Given the description of an element on the screen output the (x, y) to click on. 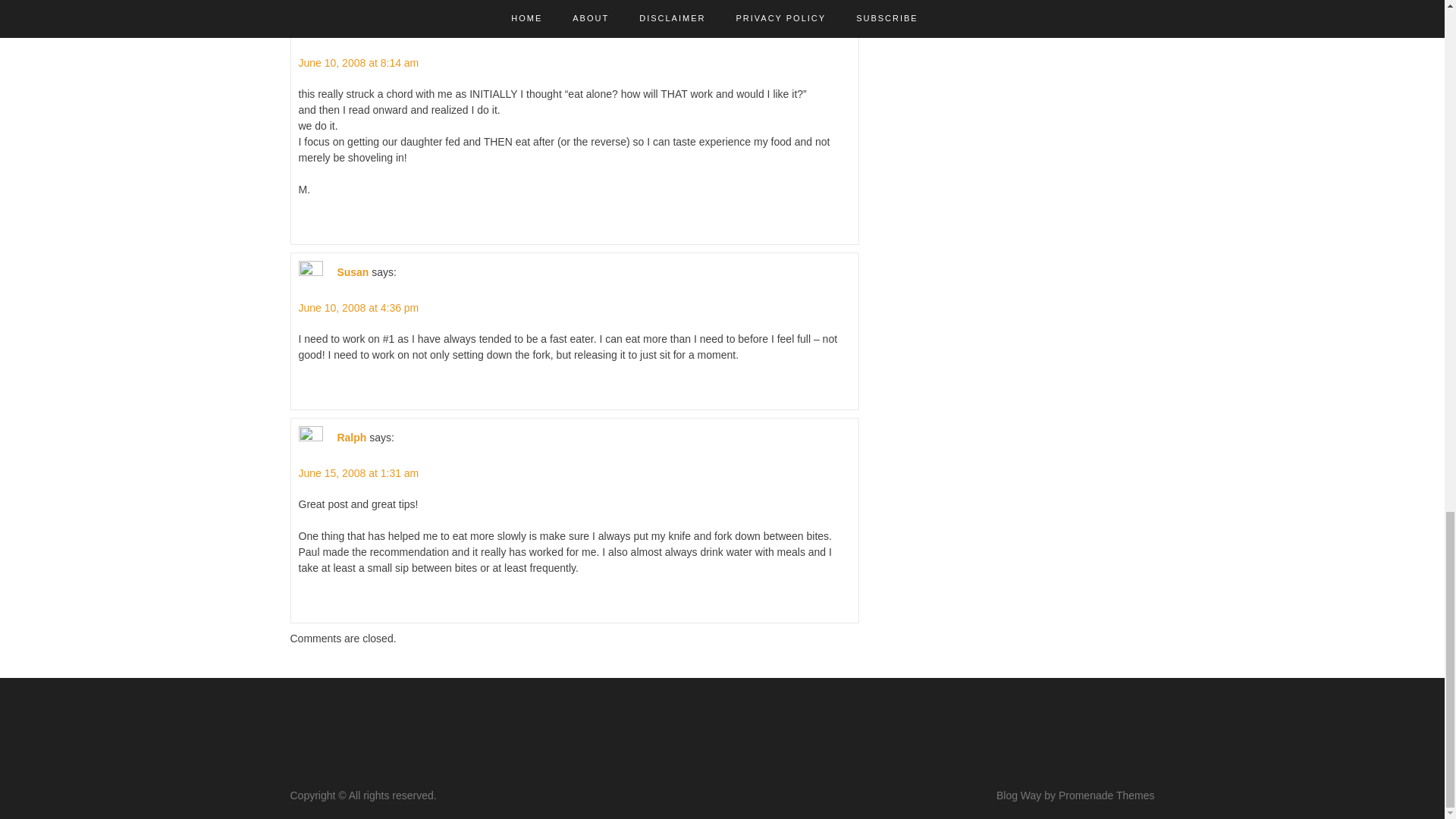
Ralph (351, 437)
Susan (352, 272)
Promenade Themes (1106, 795)
June 10, 2008 at 8:14 am (358, 62)
June 15, 2008 at 1:31 am (358, 472)
MizFit (351, 27)
June 10, 2008 at 4:36 pm (358, 307)
